Given the description of an element on the screen output the (x, y) to click on. 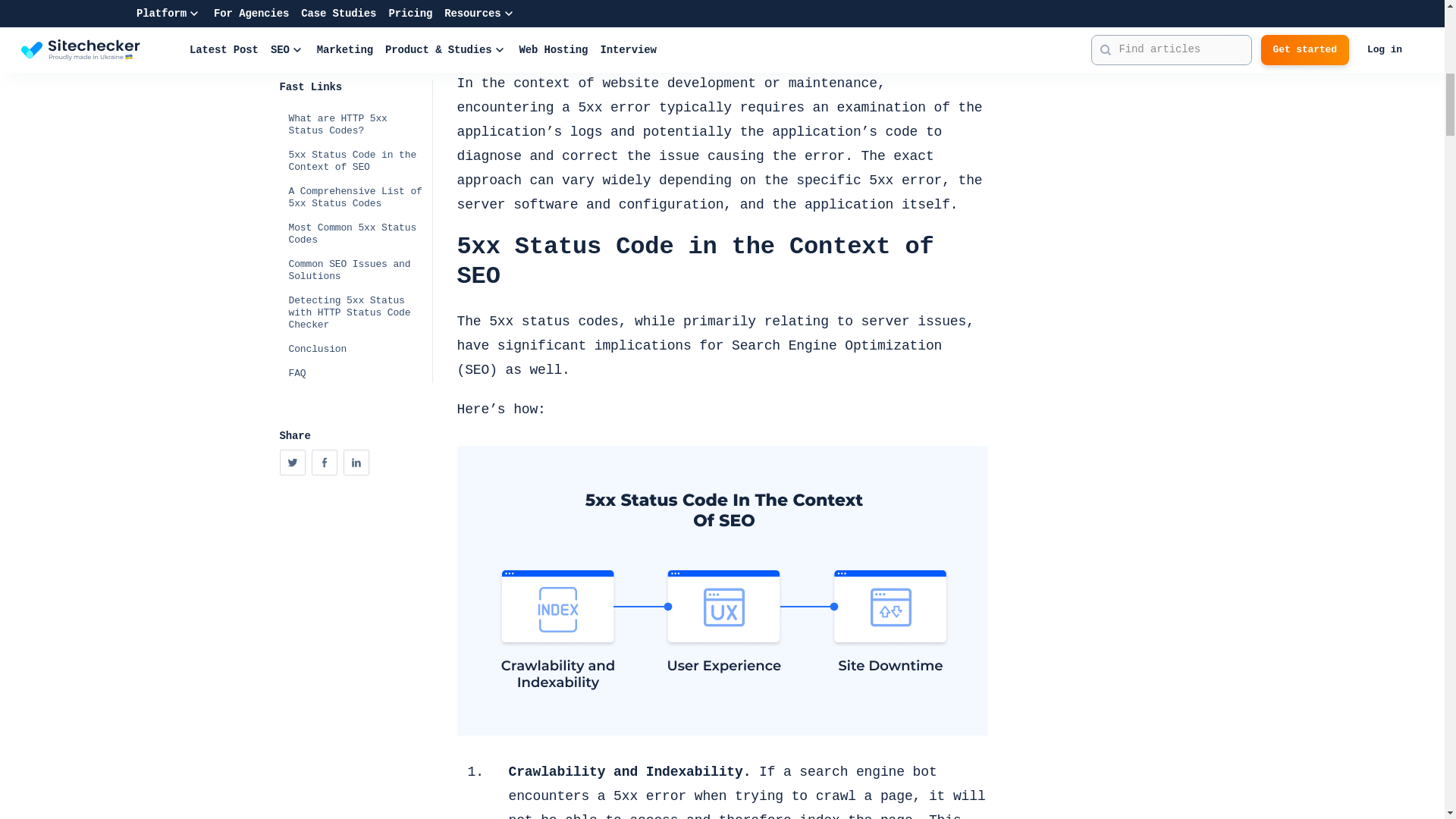
Linkedin (355, 3)
Twitter (292, 3)
RFC 7231 (642, 44)
Facebook (324, 3)
